Given the description of an element on the screen output the (x, y) to click on. 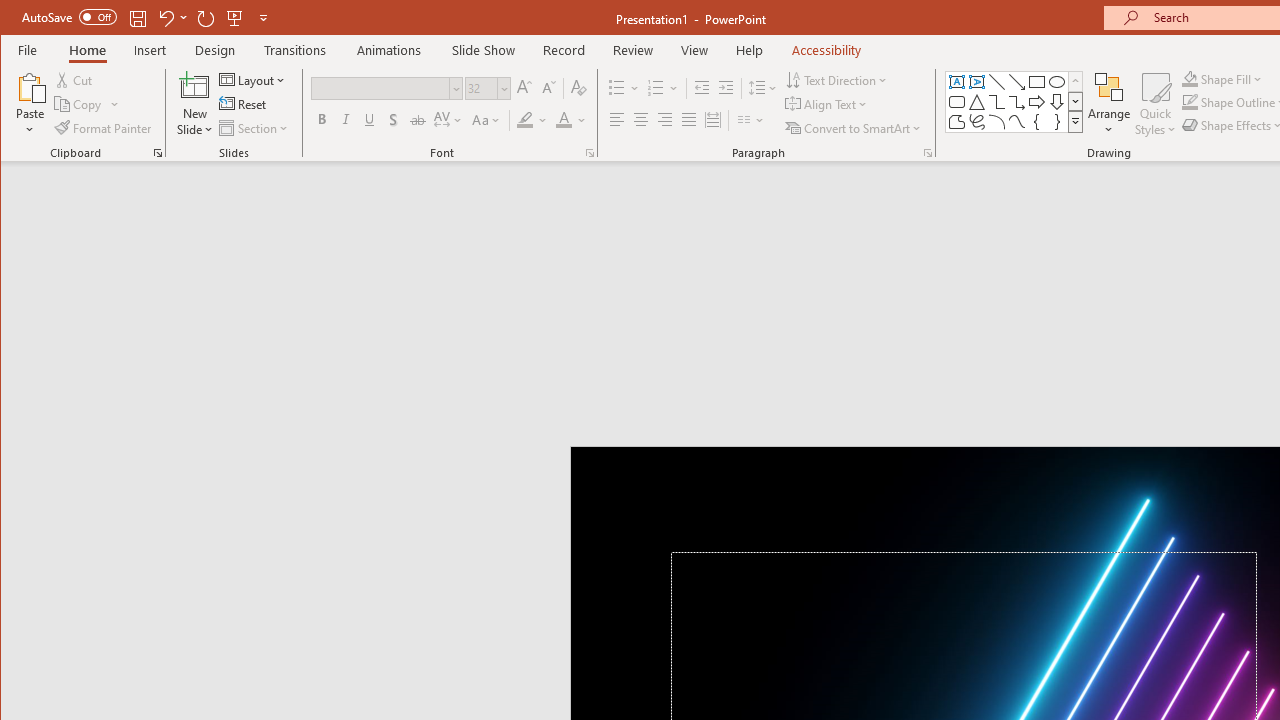
Shape Fill Orange, Accent 2 (1189, 78)
